Given the description of an element on the screen output the (x, y) to click on. 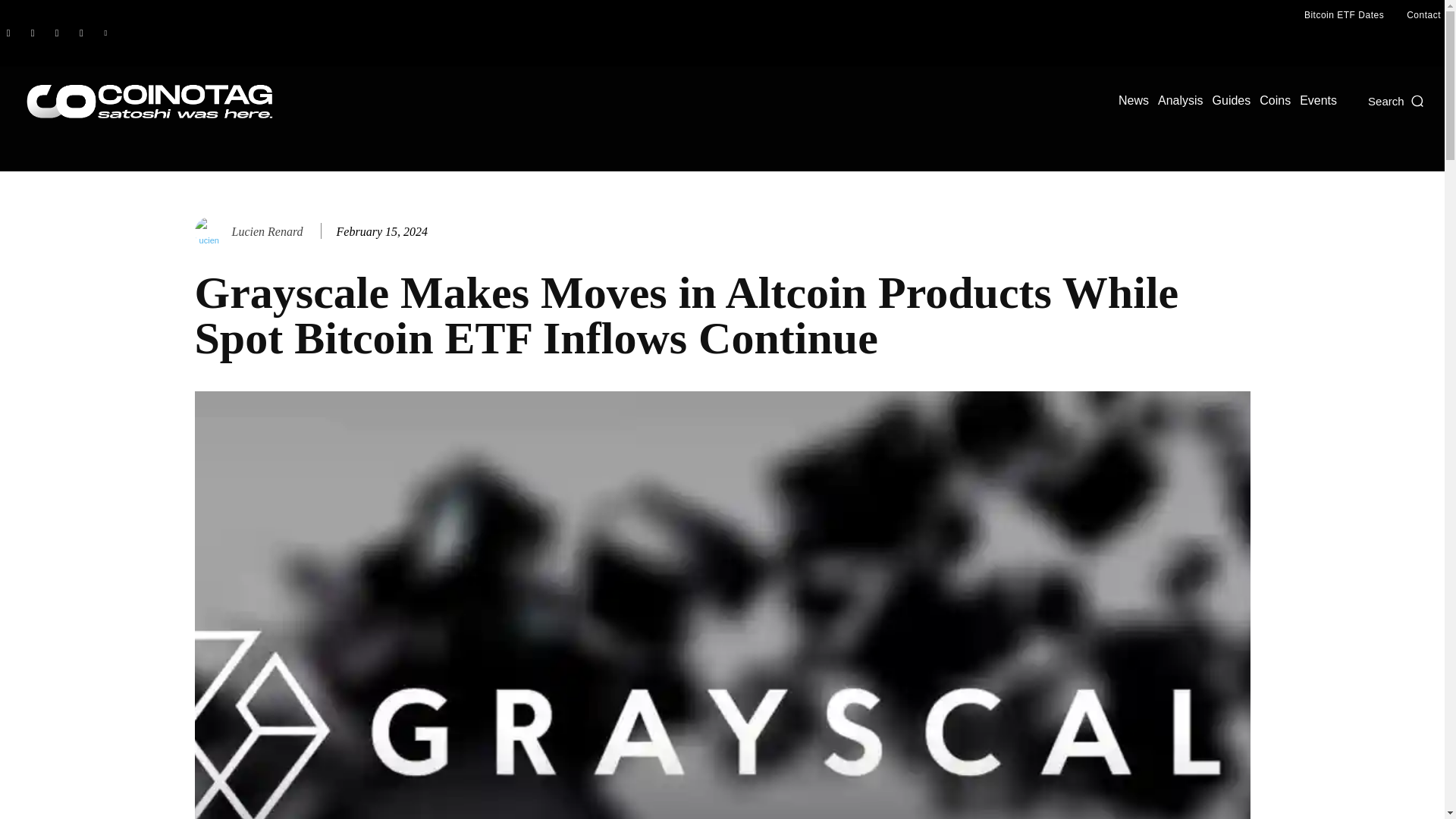
Bitcoin ETF Dates (1343, 15)
Lucien Renard (210, 232)
Lucien Renard (266, 231)
Search (1397, 99)
Telegram (80, 33)
Facebook (8, 33)
Twitter (105, 33)
RSS (56, 33)
Instagram (32, 33)
